Given the description of an element on the screen output the (x, y) to click on. 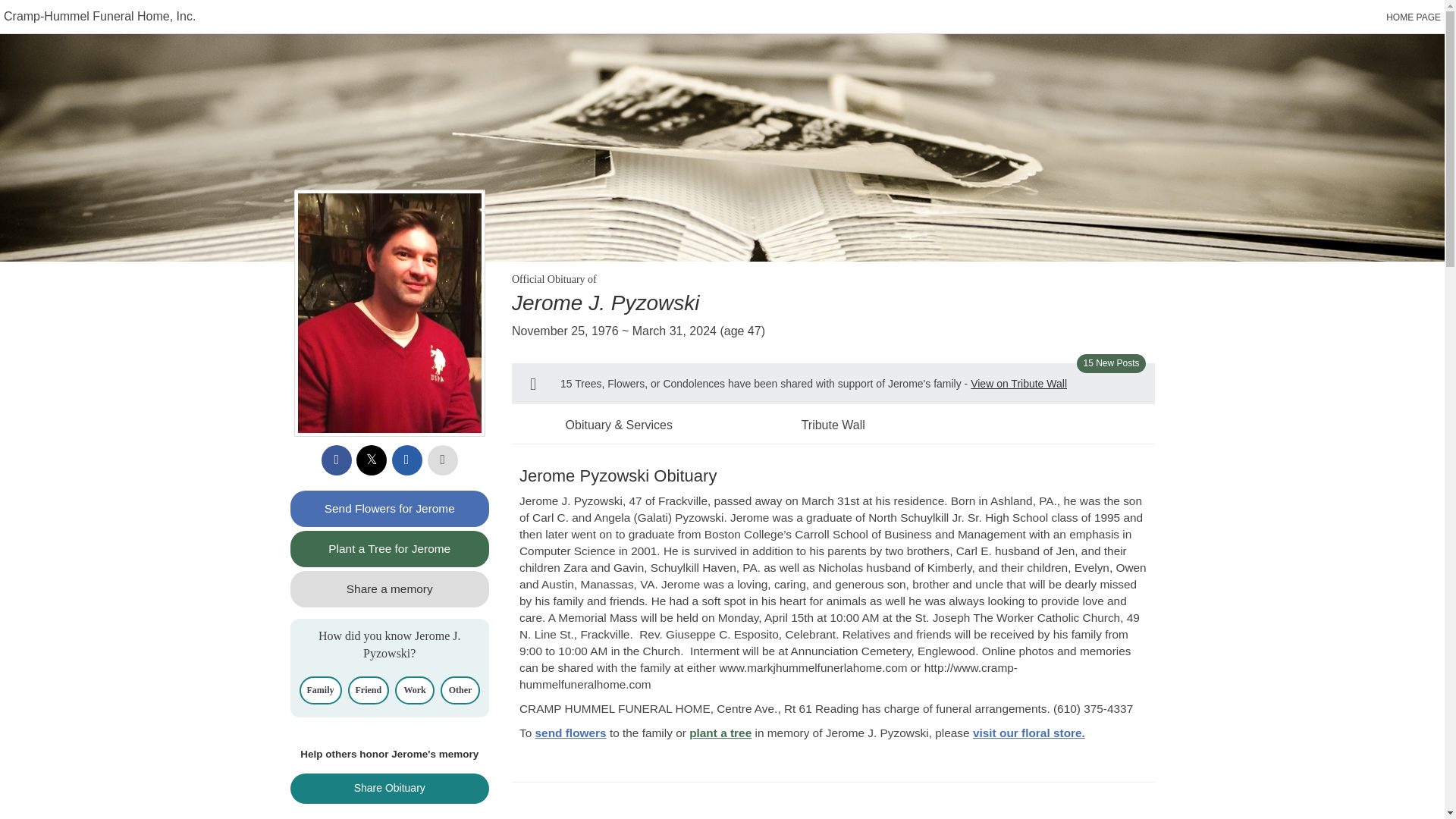
Printable copy (443, 460)
Cramp-Hummel Funeral Home, Inc. (99, 15)
Share on X (371, 460)
Share via email (406, 460)
Share Obituary (389, 788)
Send Flowers for Jerome (389, 508)
View on Tribute Wall (1019, 383)
HOME PAGE (1413, 17)
Plant a Tree for Jerome (389, 548)
Share a memory (389, 588)
Share to Facebook (336, 460)
plant a tree (719, 732)
send flowers (571, 732)
visit our floral store. (1028, 732)
